Given the description of an element on the screen output the (x, y) to click on. 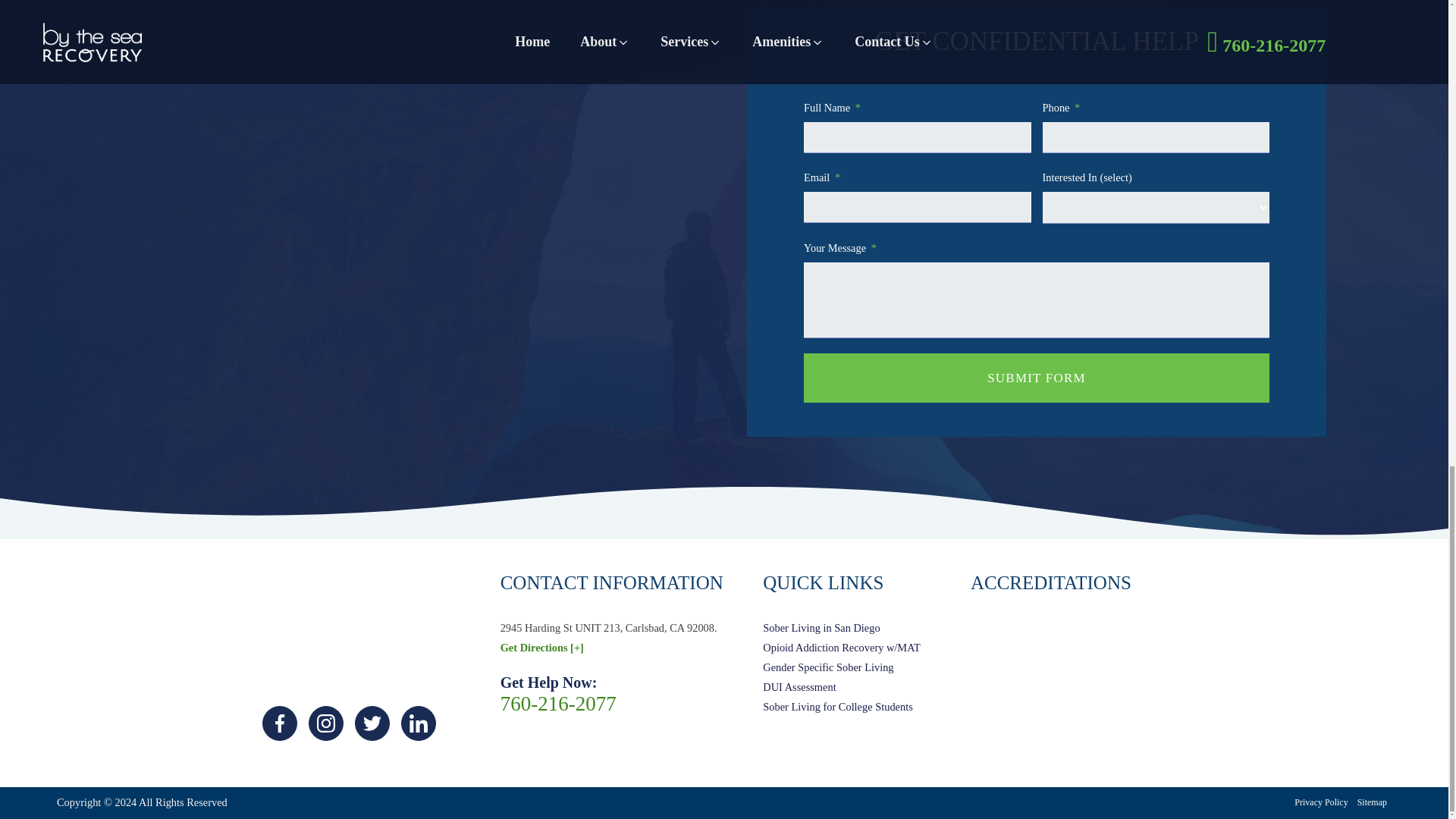
SUBMIT FORM (1036, 377)
